Given the description of an element on the screen output the (x, y) to click on. 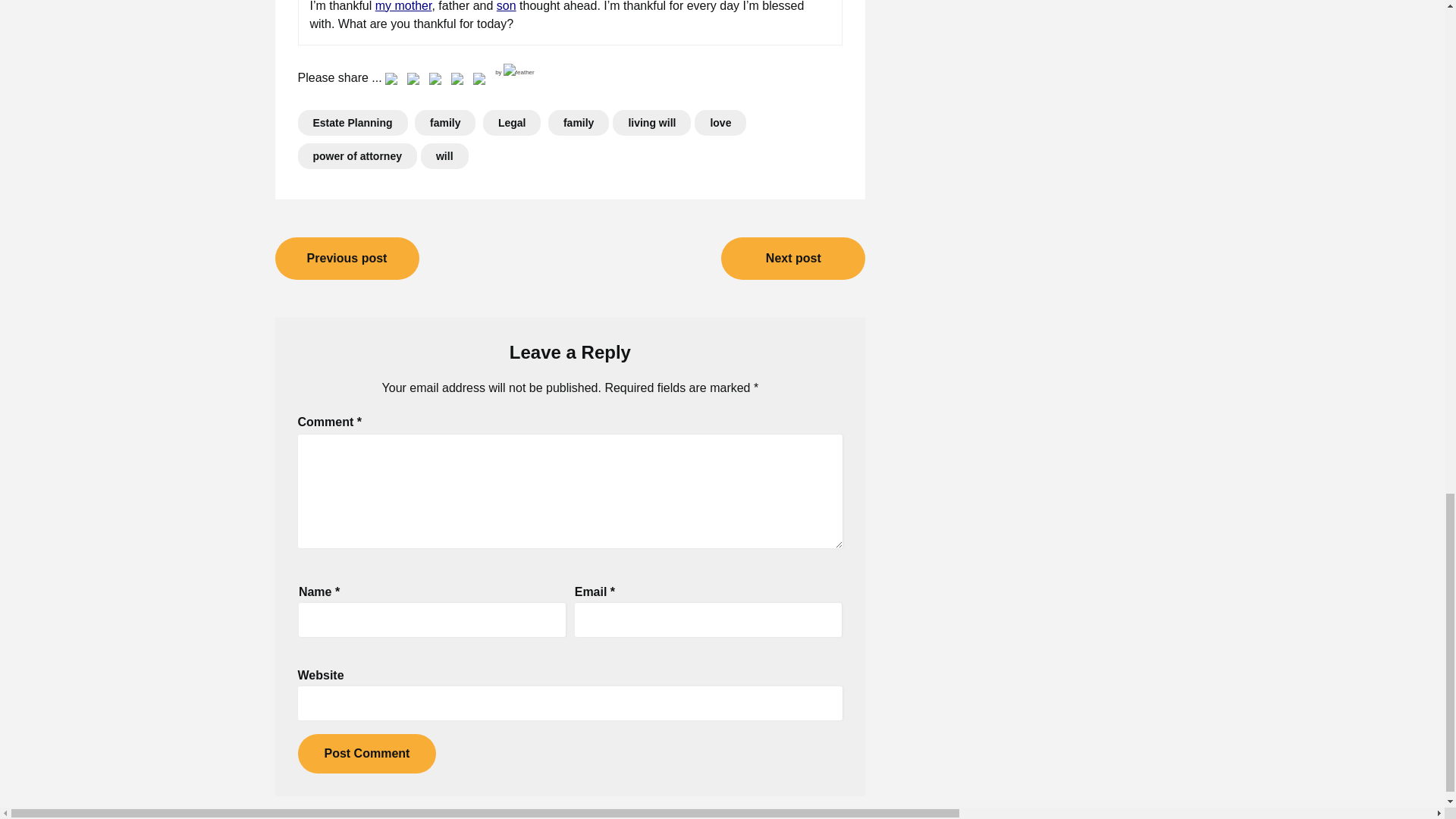
Post Comment (366, 753)
Share on Facebook (394, 81)
by (514, 72)
Share on Twitter (413, 81)
my mother (403, 6)
Share on Twitter (416, 81)
Share on Facebook (391, 81)
son (506, 6)
